Given the description of an element on the screen output the (x, y) to click on. 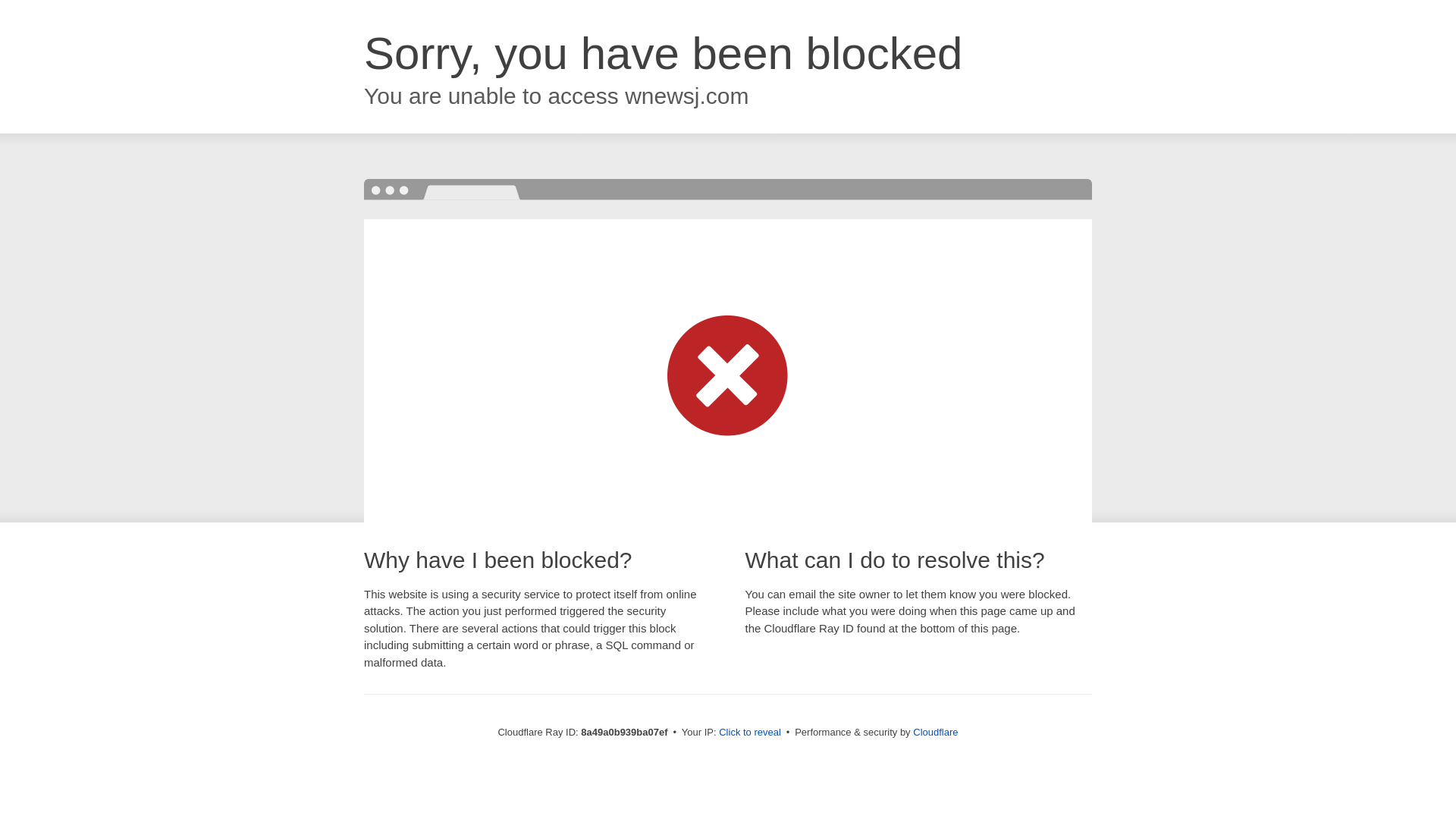
Click to reveal (749, 732)
Cloudflare (935, 731)
